Given the description of an element on the screen output the (x, y) to click on. 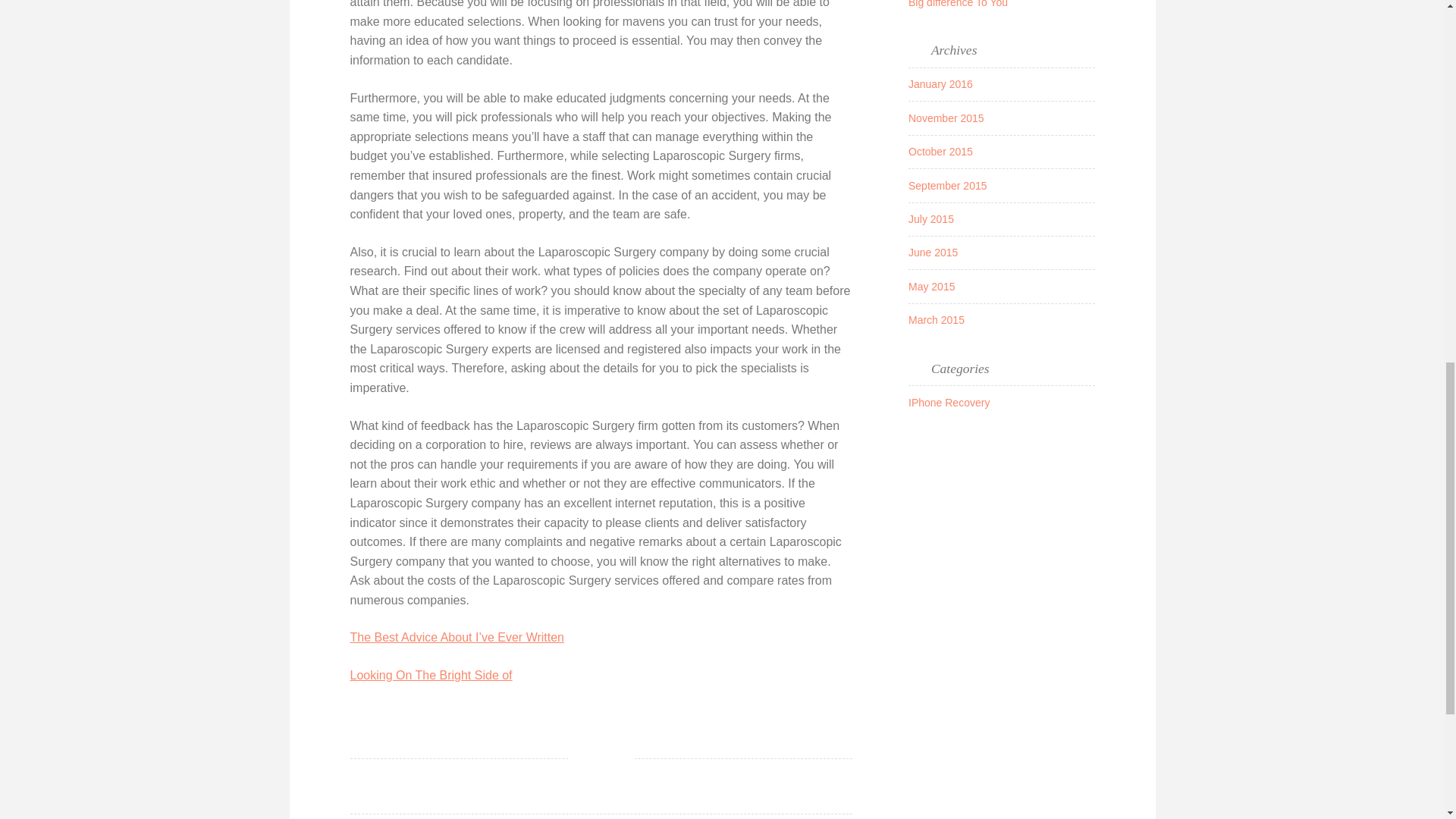
November 2015 (946, 118)
The Iphone And How It Can Make A Big difference To You (992, 3)
March 2015 (935, 319)
January 2016 (940, 83)
September 2015 (947, 185)
IPhone Recovery (949, 402)
July 2015 (930, 218)
May 2015 (931, 286)
June 2015 (933, 252)
October 2015 (940, 151)
